Given the description of an element on the screen output the (x, y) to click on. 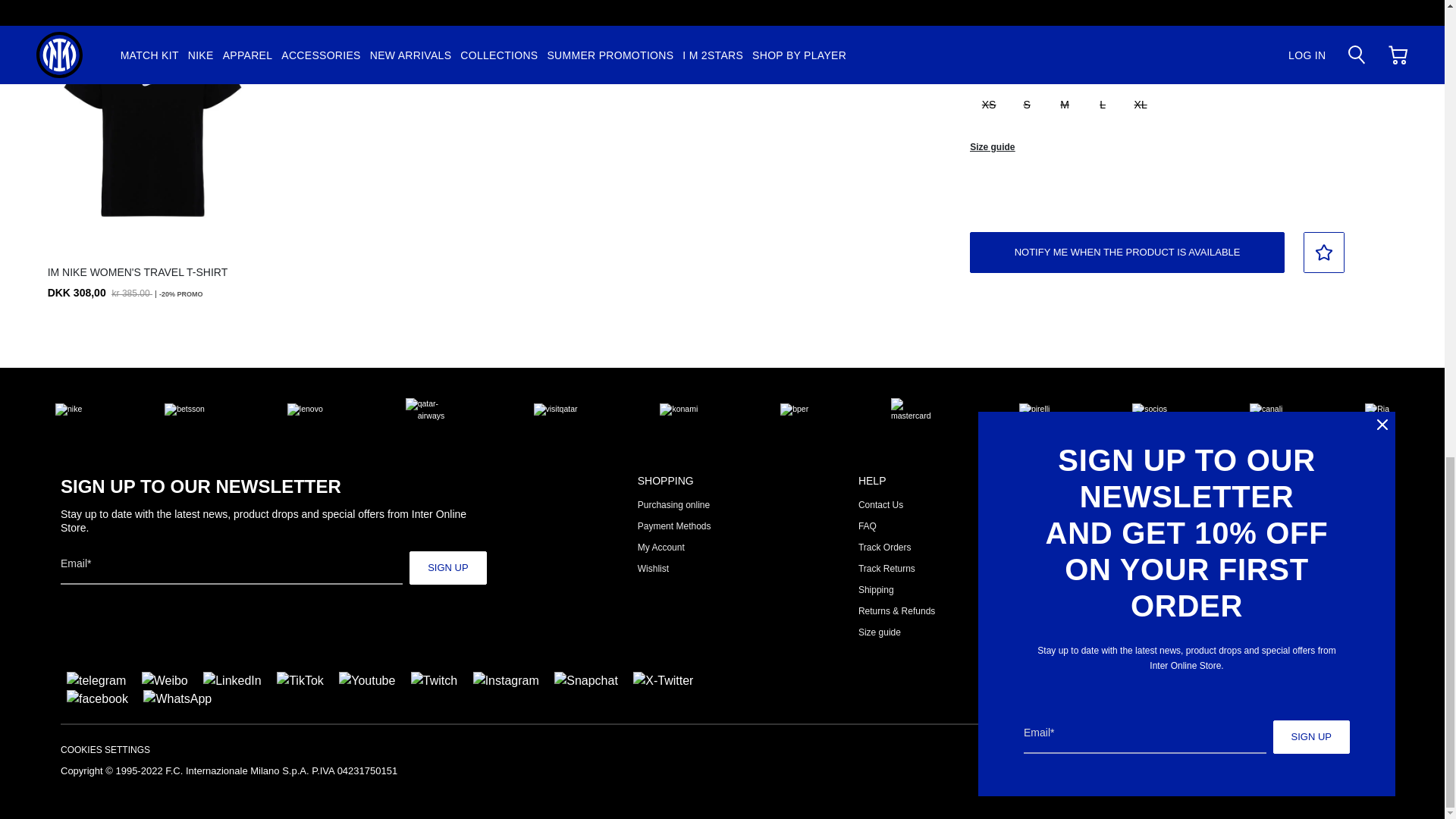
Go to Payment Methods (674, 525)
Go to Purchasing Online (673, 504)
Go to Track Returns (887, 568)
Go to Faq (867, 525)
Go to Wishlist (652, 568)
Go to Contact Us (880, 504)
Image IM NIKE WOMEN'S TRAVEL T-SHIRT (153, 120)
Go to Track Orders (885, 547)
Go to My Account (660, 547)
